Given the description of an element on the screen output the (x, y) to click on. 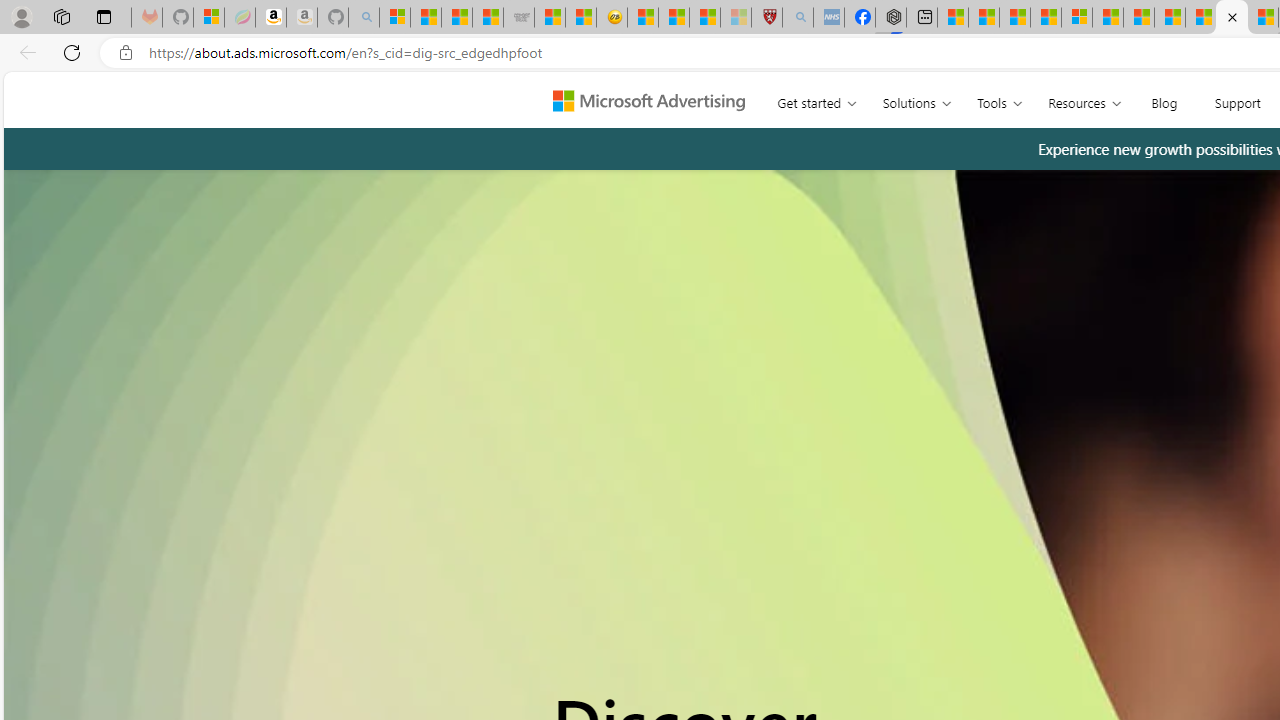
Blog (1163, 98)
Combat Siege (518, 17)
Support (1236, 98)
Robert H. Shmerling, MD - Harvard Health (766, 17)
list of asthma inhalers uk - Search - Sleeping (797, 17)
